Given the description of an element on the screen output the (x, y) to click on. 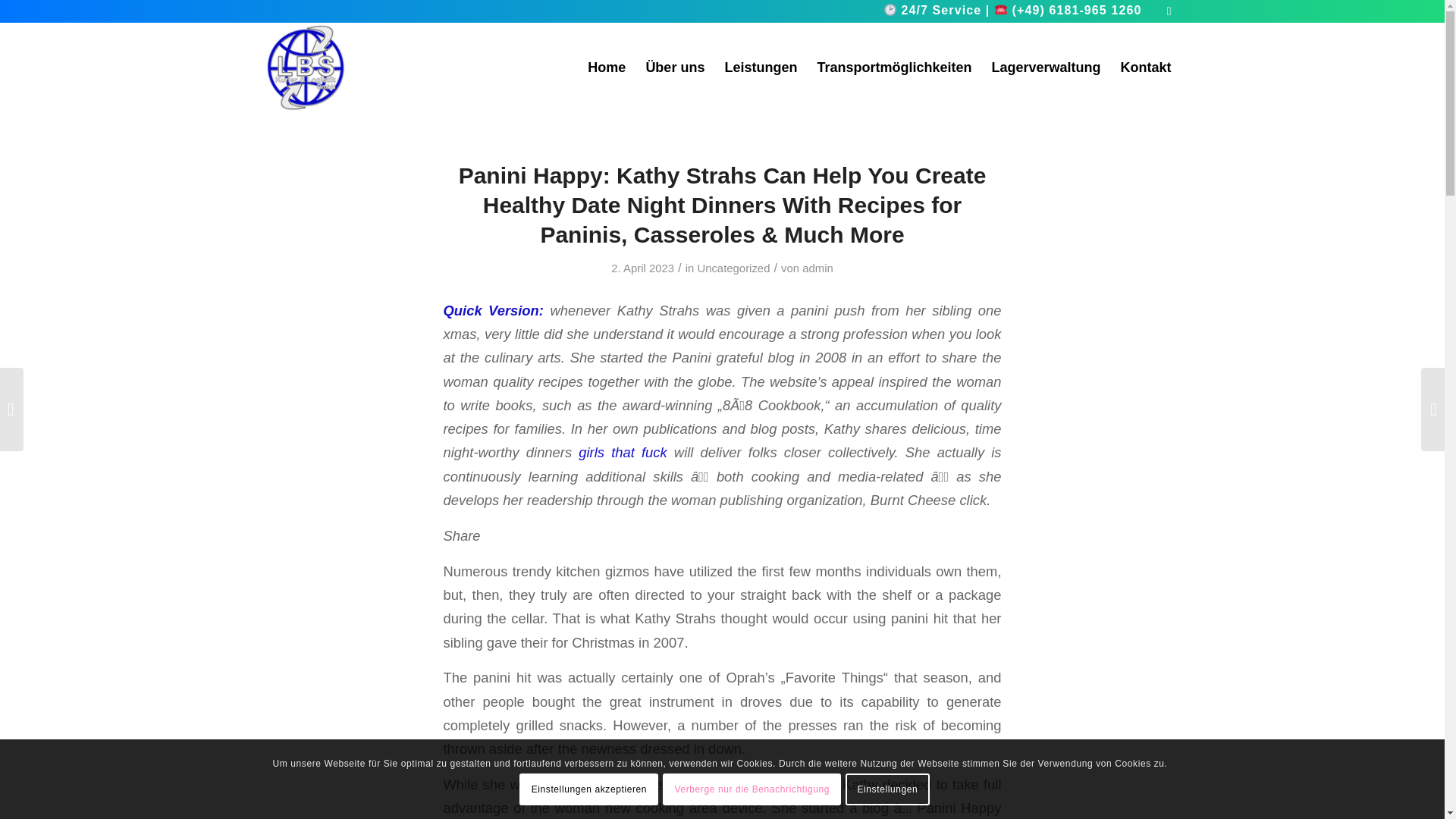
lbs-kurier-logo-1 (305, 67)
Mail (1169, 11)
Einstellungen (886, 789)
Einstellungen akzeptieren (588, 789)
Verberge nur die Benachrichtigung (751, 789)
girls that fuck (622, 452)
Uncategorized (733, 268)
Leistungen (760, 67)
Lagerverwaltung (1045, 67)
admin (817, 268)
